Given the description of an element on the screen output the (x, y) to click on. 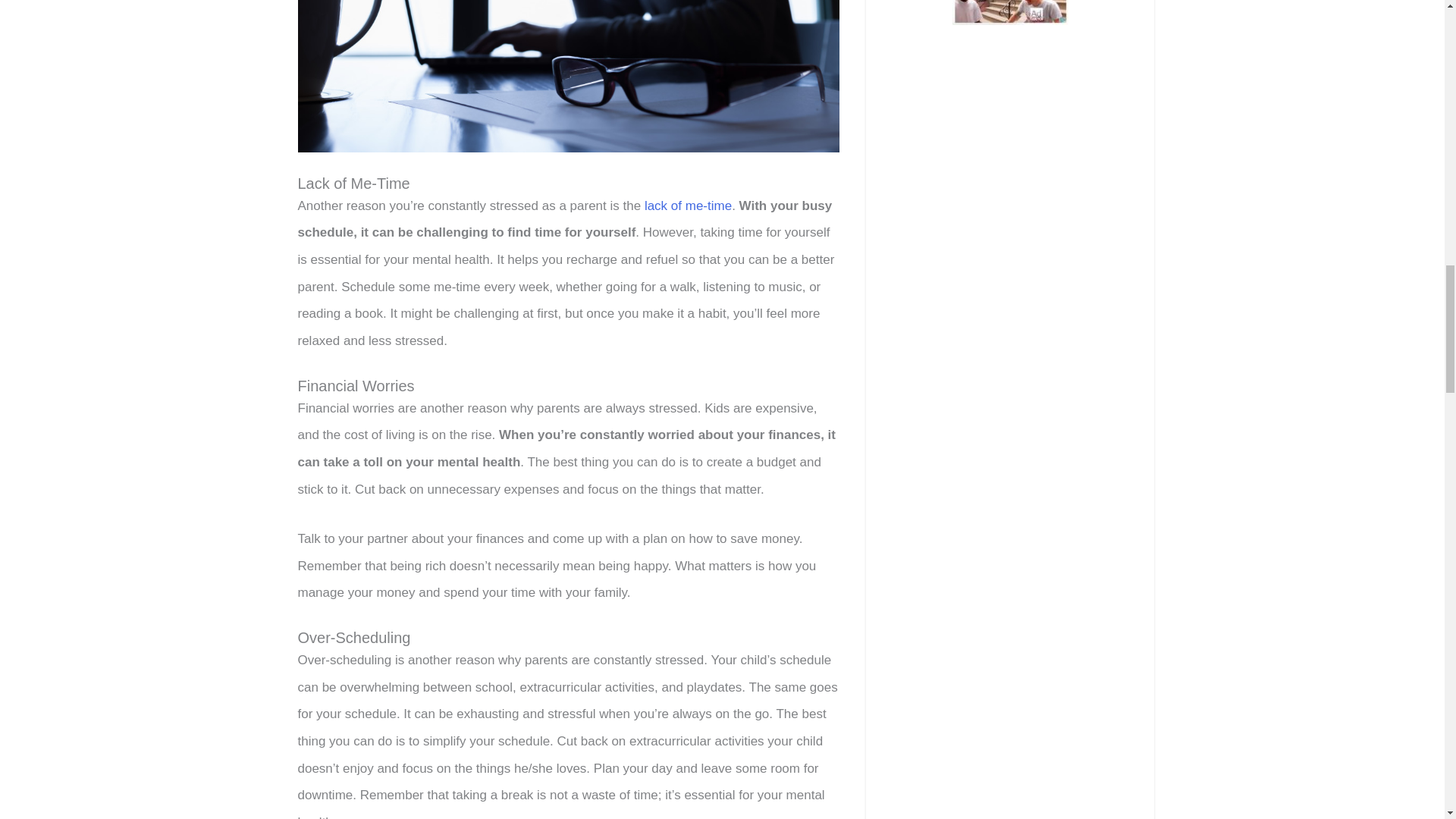
lack of me-time (688, 205)
Stressed woman (568, 76)
